Given the description of an element on the screen output the (x, y) to click on. 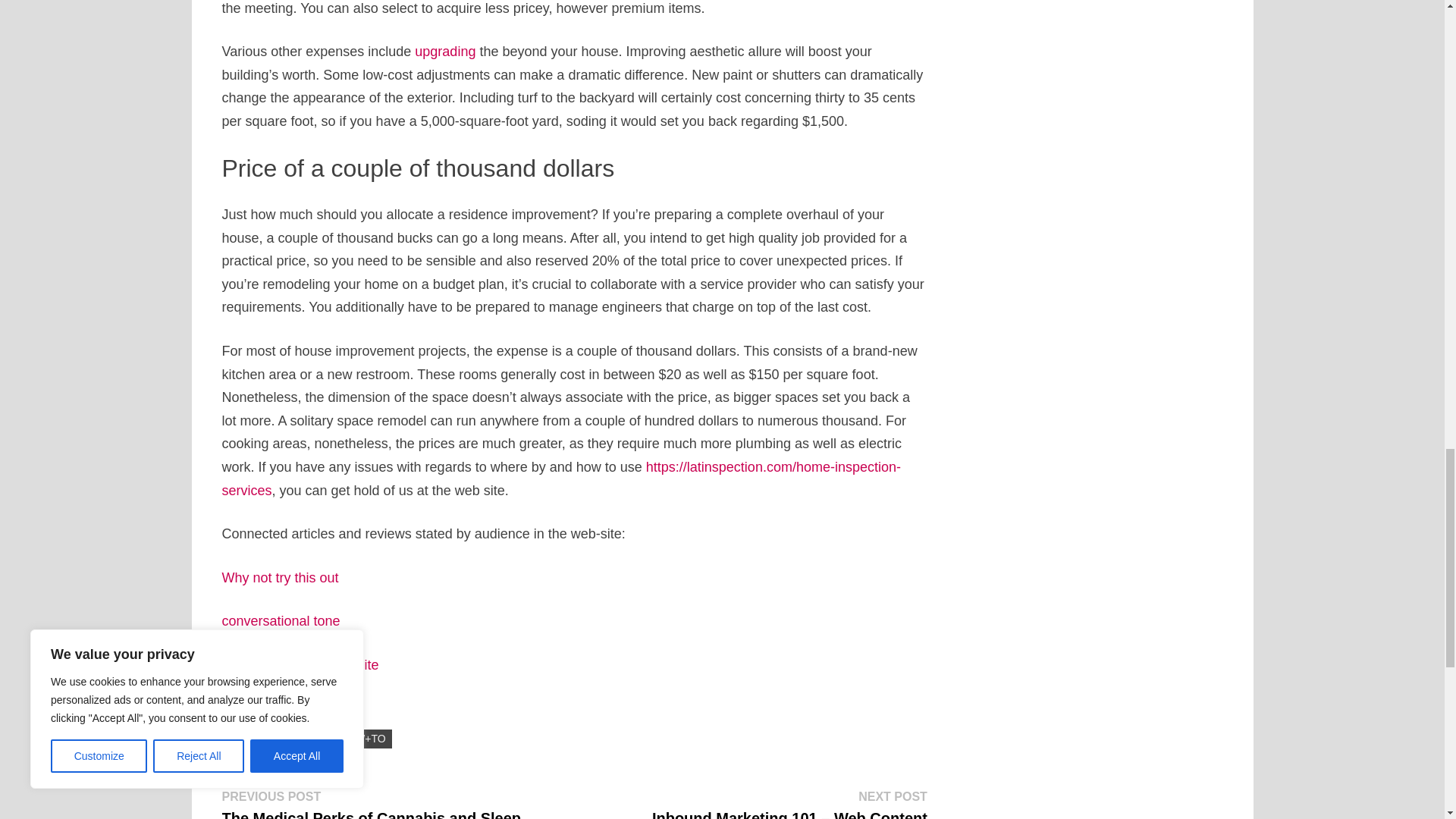
visit the following web site (299, 664)
upgrading (445, 51)
conversational tone (280, 620)
Why not try this out (279, 577)
